Given the description of an element on the screen output the (x, y) to click on. 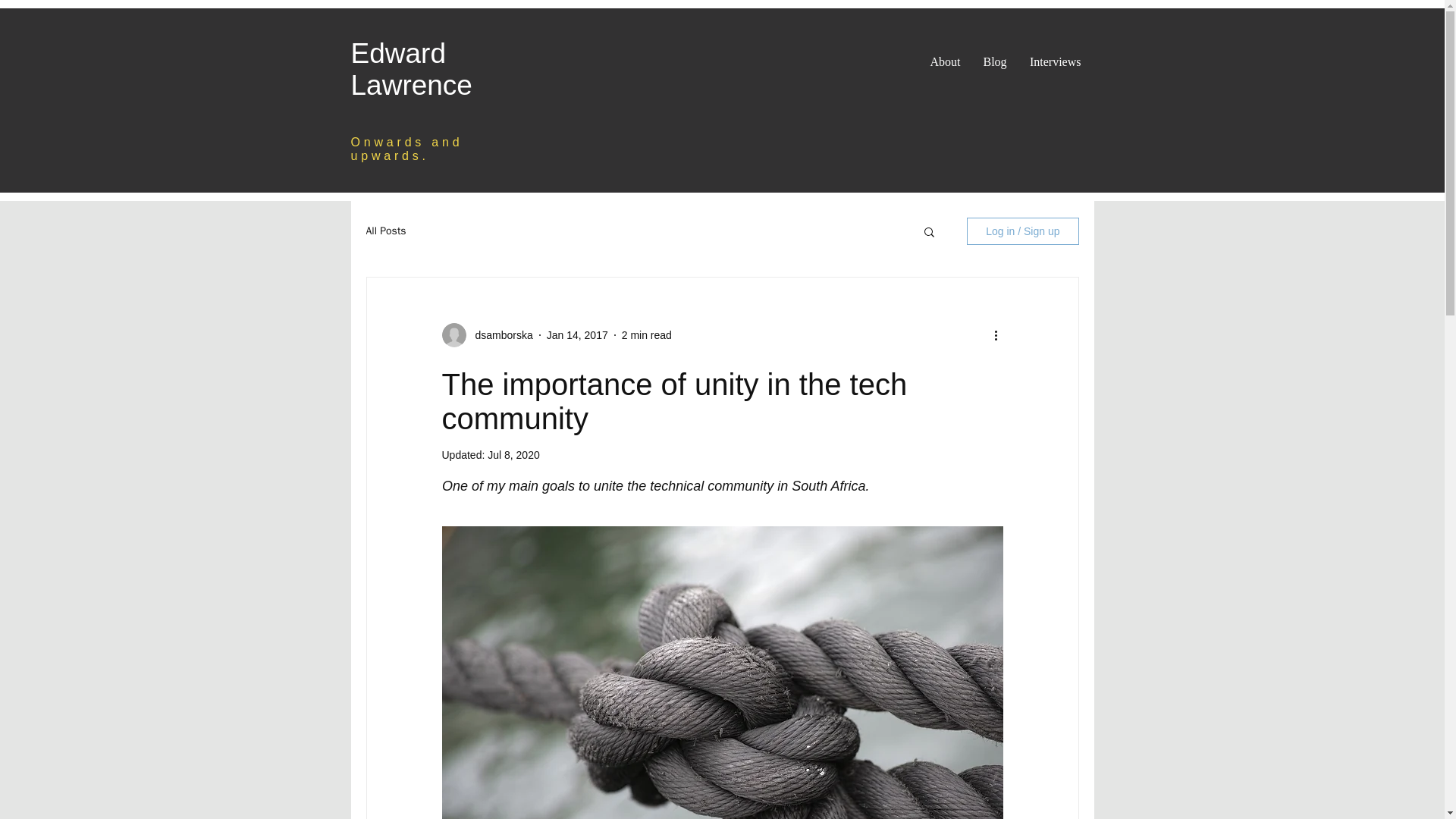
About (945, 61)
dsamborska (498, 335)
Edward Lawrence (410, 68)
Interviews (1054, 61)
All Posts (385, 231)
2 min read (646, 335)
Jan 14, 2017 (577, 335)
Jul 8, 2020 (513, 454)
Blog (994, 61)
